Given the description of an element on the screen output the (x, y) to click on. 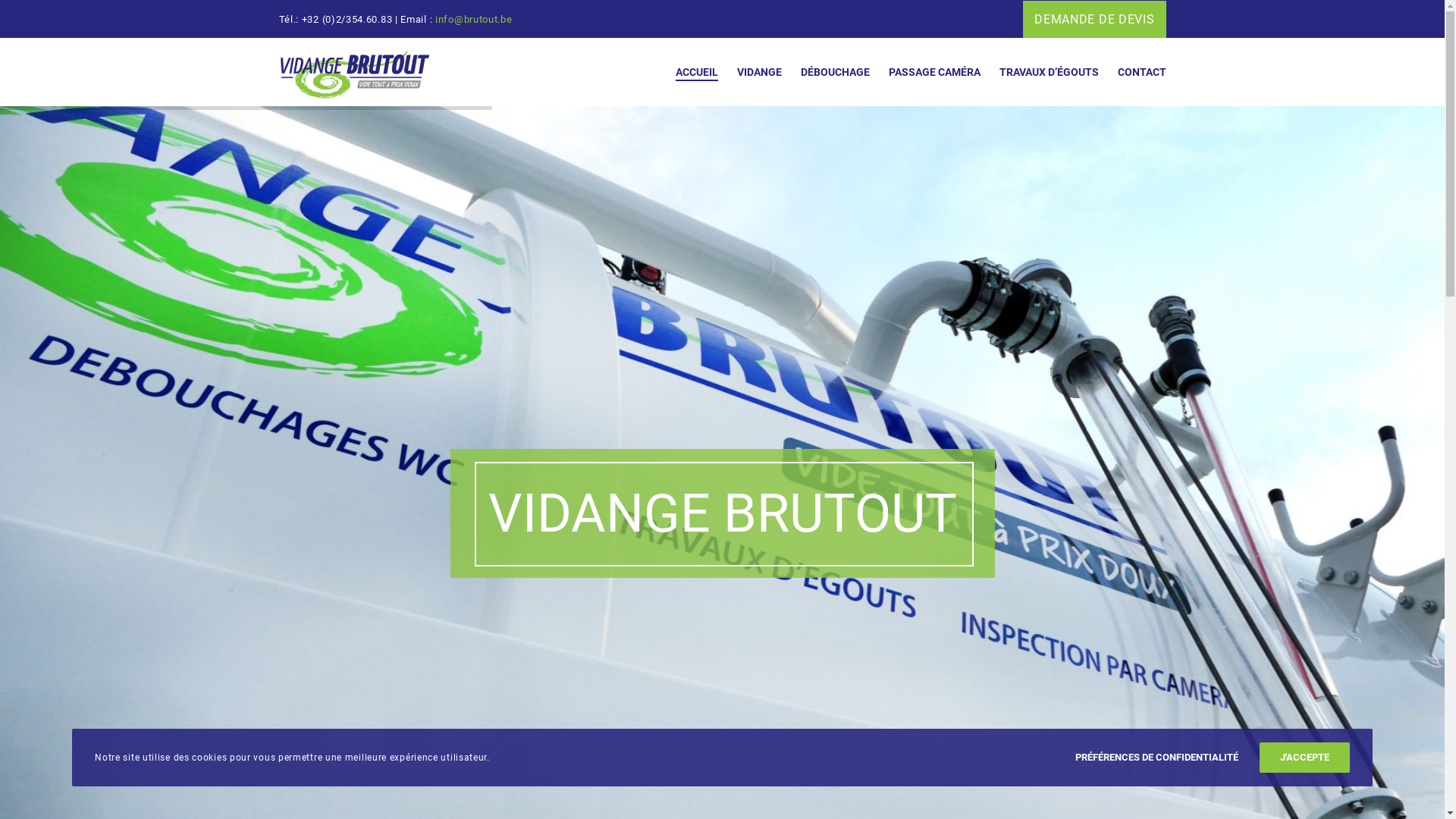
info@brutout.be Element type: text (473, 19)
CONTACT Element type: text (1131, 71)
DEMANDE DE DEVIS Element type: text (1093, 18)
ACCUEIL Element type: text (687, 71)
J'ACCEPTE Element type: text (1304, 757)
VIDANGE Element type: text (749, 71)
